Given the description of an element on the screen output the (x, y) to click on. 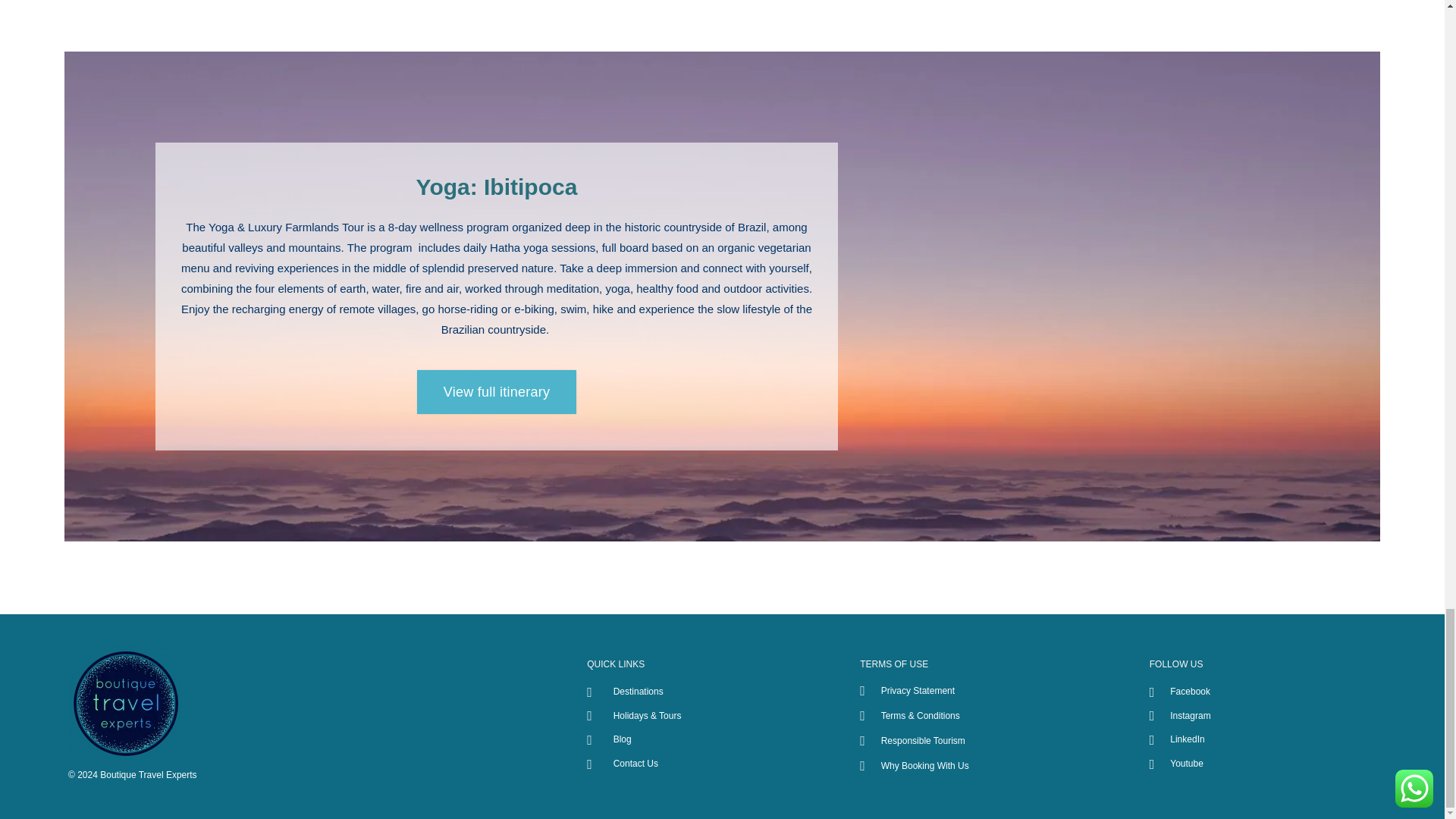
Contact Us (715, 764)
Why Booking With Us (997, 766)
Facebook (1288, 692)
LinkedIn (1288, 740)
Instagram (1288, 716)
Privacy Statement (997, 690)
Blog (715, 740)
Responsible Tourism (997, 740)
Youtube (1288, 764)
Destinations (715, 692)
View full itinerary (496, 392)
